Given the description of an element on the screen output the (x, y) to click on. 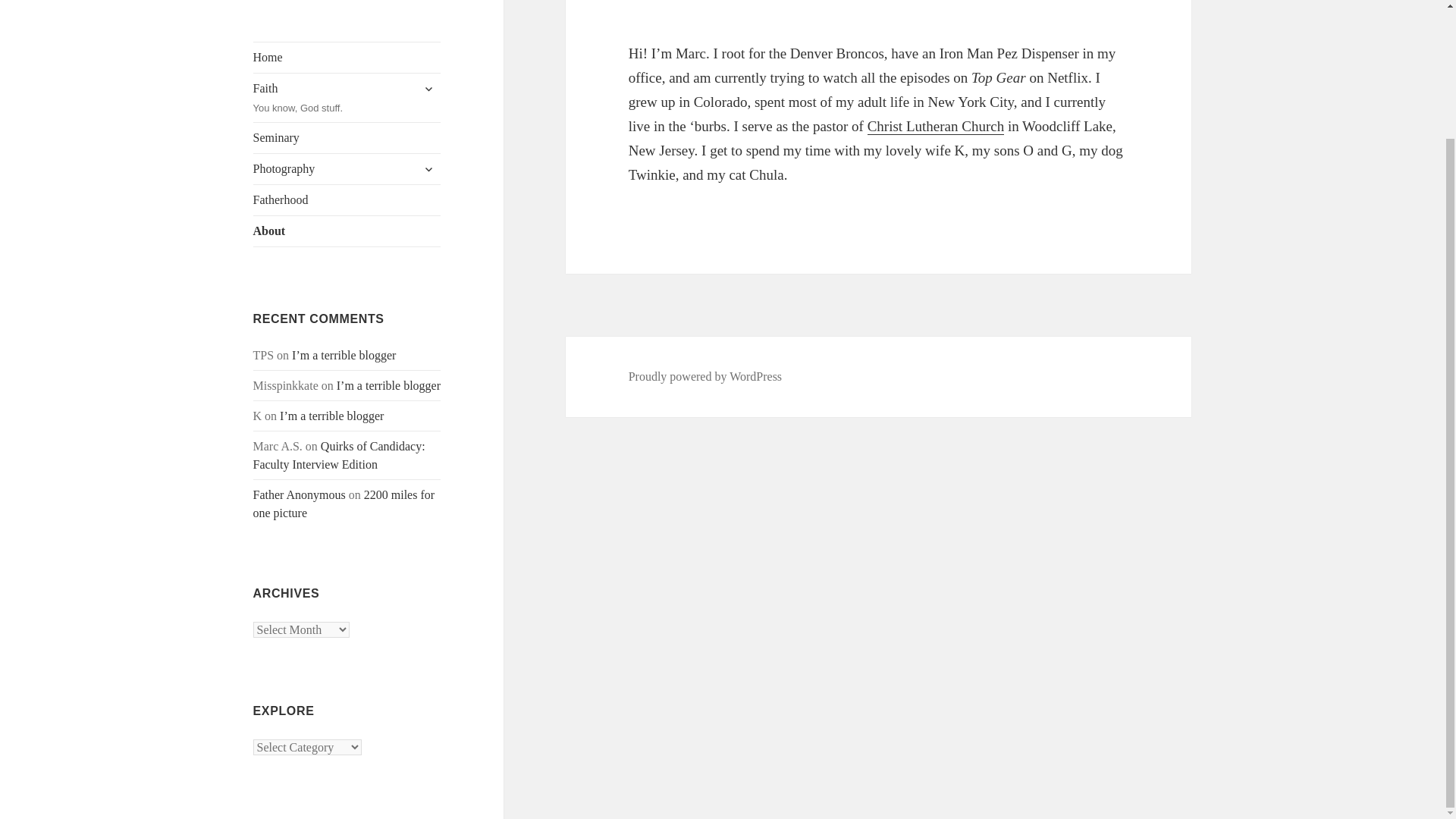
expand child menu (428, 88)
2200 miles for one picture (344, 503)
Fatherhood (347, 200)
Seminary (347, 137)
Home (347, 57)
Father Anonymous (299, 494)
Quirks of Candidacy: Faculty Interview Edition (339, 454)
About (347, 231)
Photography (347, 168)
Christ Lutheran Church (935, 126)
expand child menu (347, 97)
Proudly powered by WordPress (428, 168)
